Given the description of an element on the screen output the (x, y) to click on. 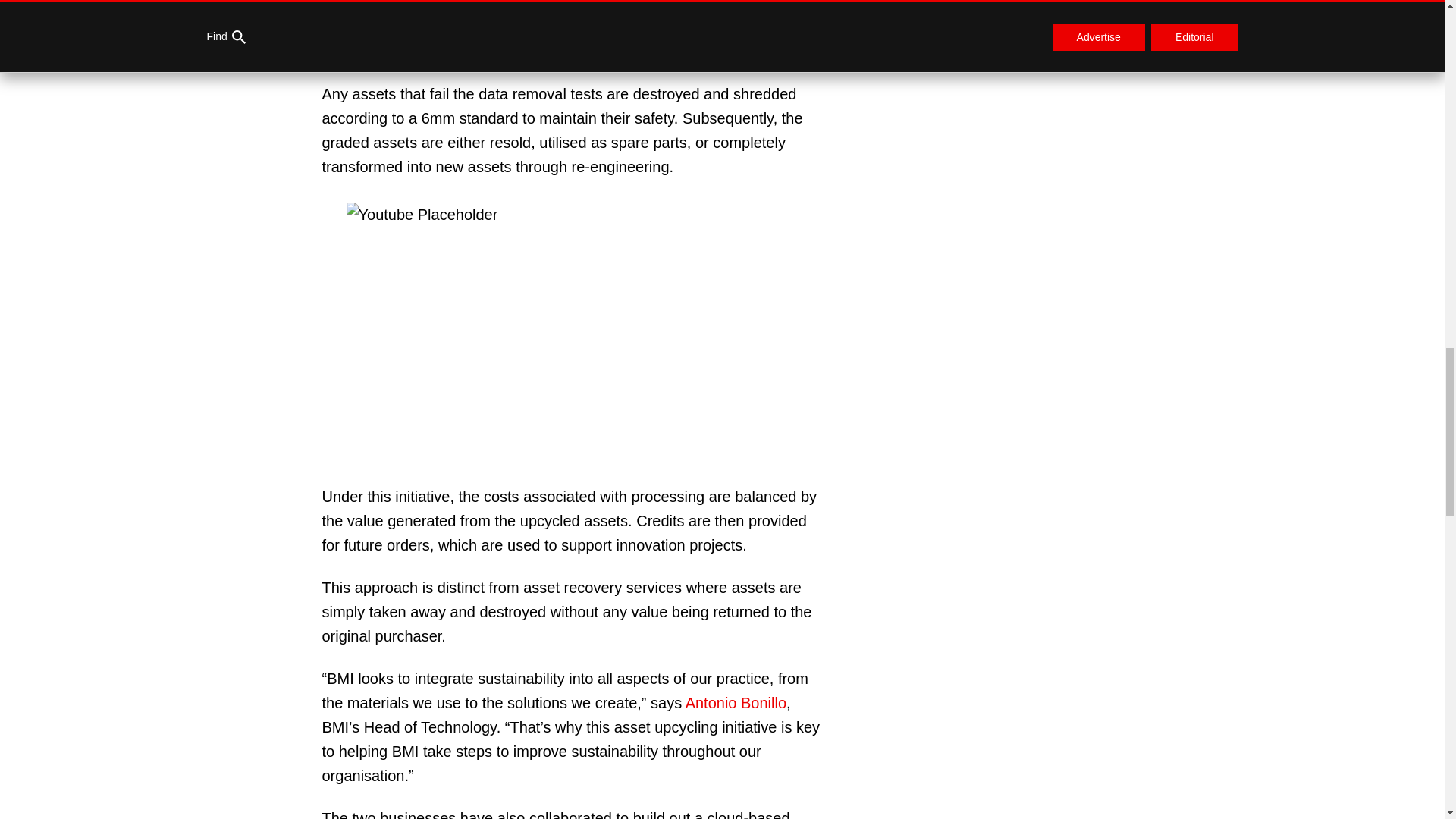
Antonio Bonillo (735, 702)
